Given the description of an element on the screen output the (x, y) to click on. 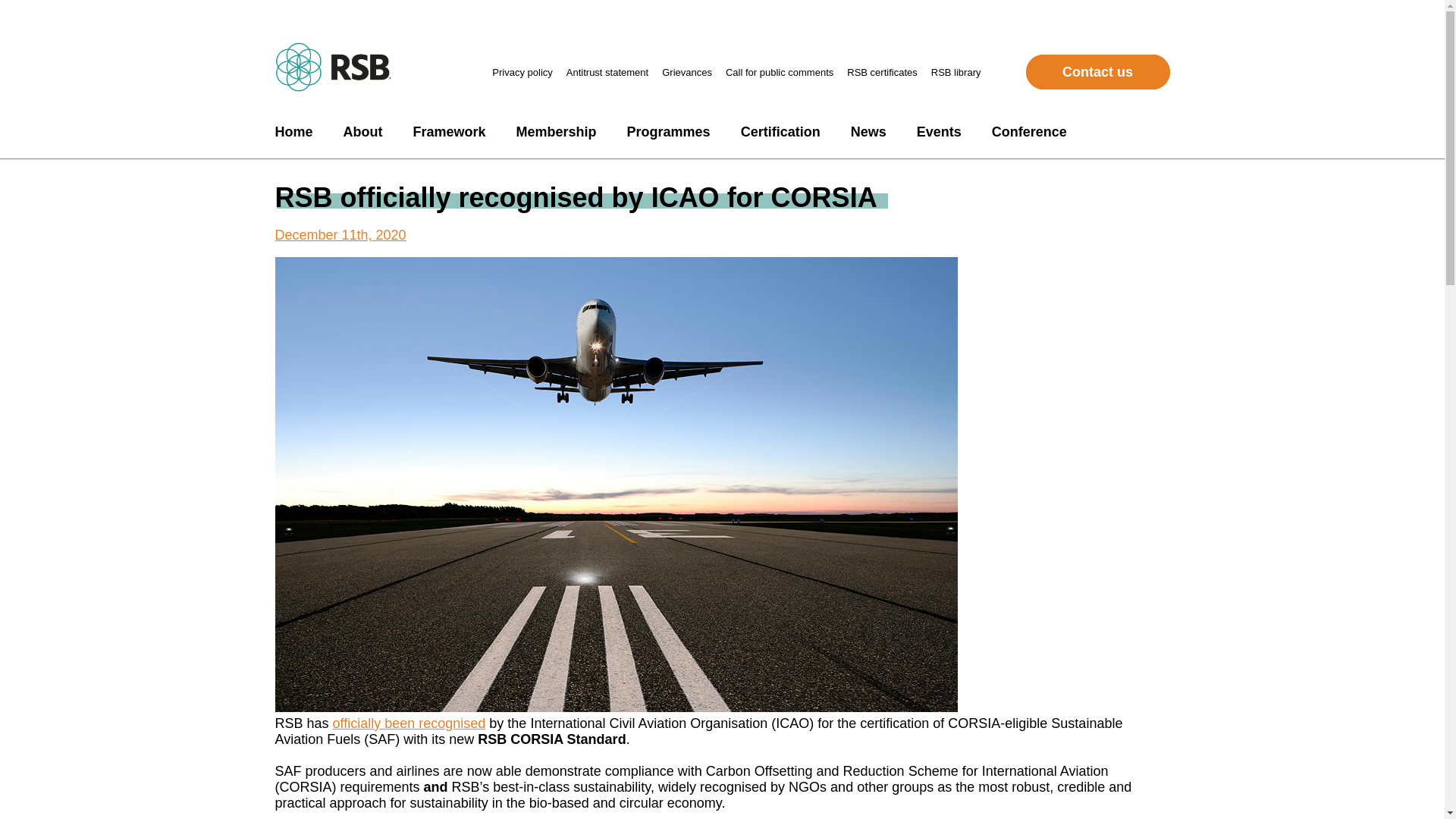
Membership (556, 132)
Home (294, 132)
Framework (448, 132)
About (362, 132)
